Given the description of an element on the screen output the (x, y) to click on. 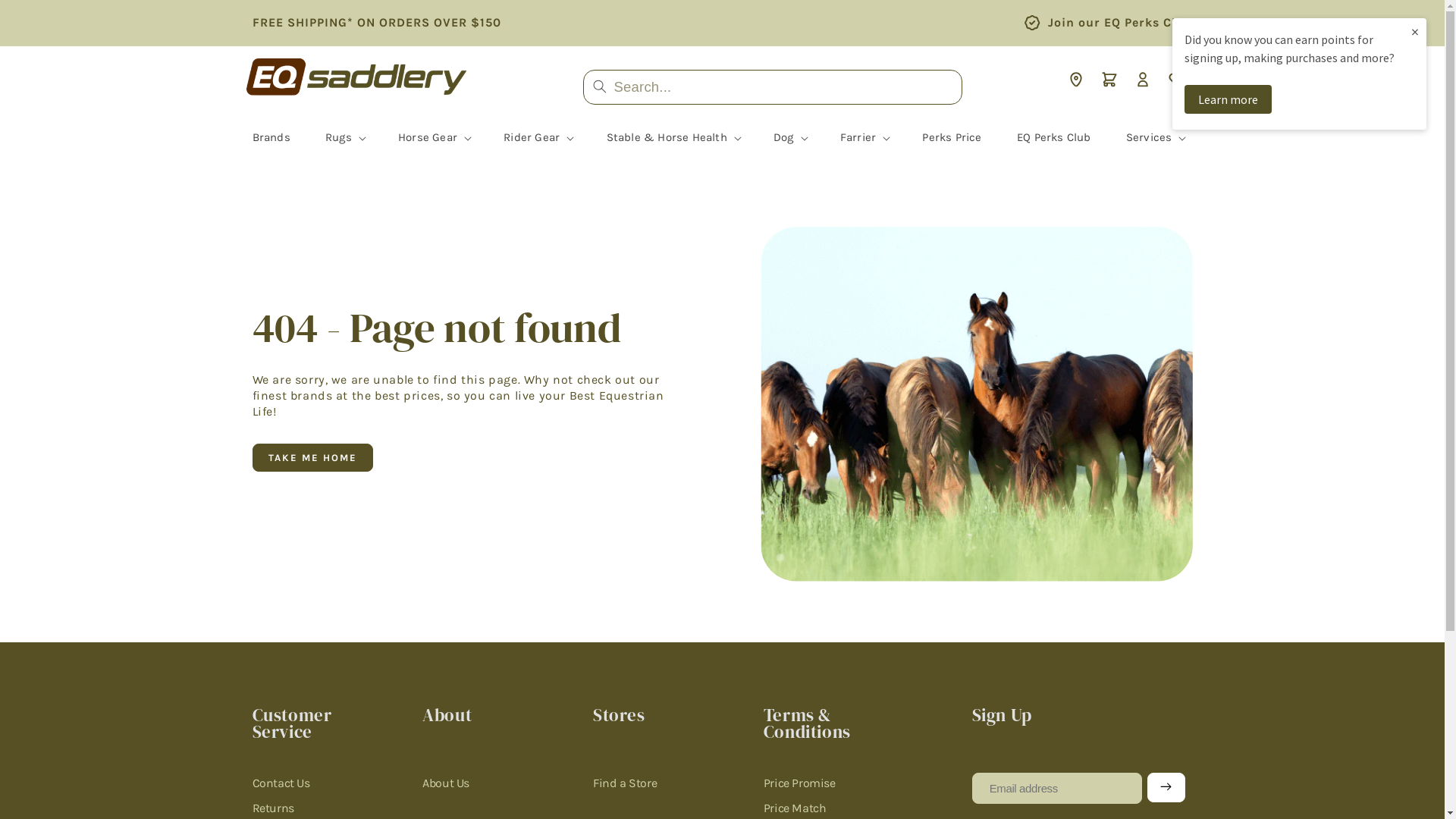
About Us Element type: text (445, 786)
Dog Element type: text (783, 137)
Contact Us Element type: text (280, 786)
Learn more Element type: text (1227, 98)
Stable & Horse Health Element type: text (666, 137)
Join our EQ Perks Club Element type: text (1120, 22)
Rugs Element type: text (338, 137)
FREE SHIPPING* ON ORDERS OVER $150 Element type: text (375, 22)
Farrier Element type: text (857, 137)
Cart Element type: text (1108, 79)
Services Element type: text (1149, 137)
Perks Price Element type: text (951, 137)
Log in Element type: text (1141, 79)
EQ Perks Club Element type: text (1053, 137)
TAKE ME HOME Element type: text (311, 457)
Brands Element type: text (270, 137)
Price Promise Element type: text (799, 786)
Horse Gear Element type: text (427, 137)
Find a Store Element type: text (624, 786)
Rider Gear Element type: text (531, 137)
